Given the description of an element on the screen output the (x, y) to click on. 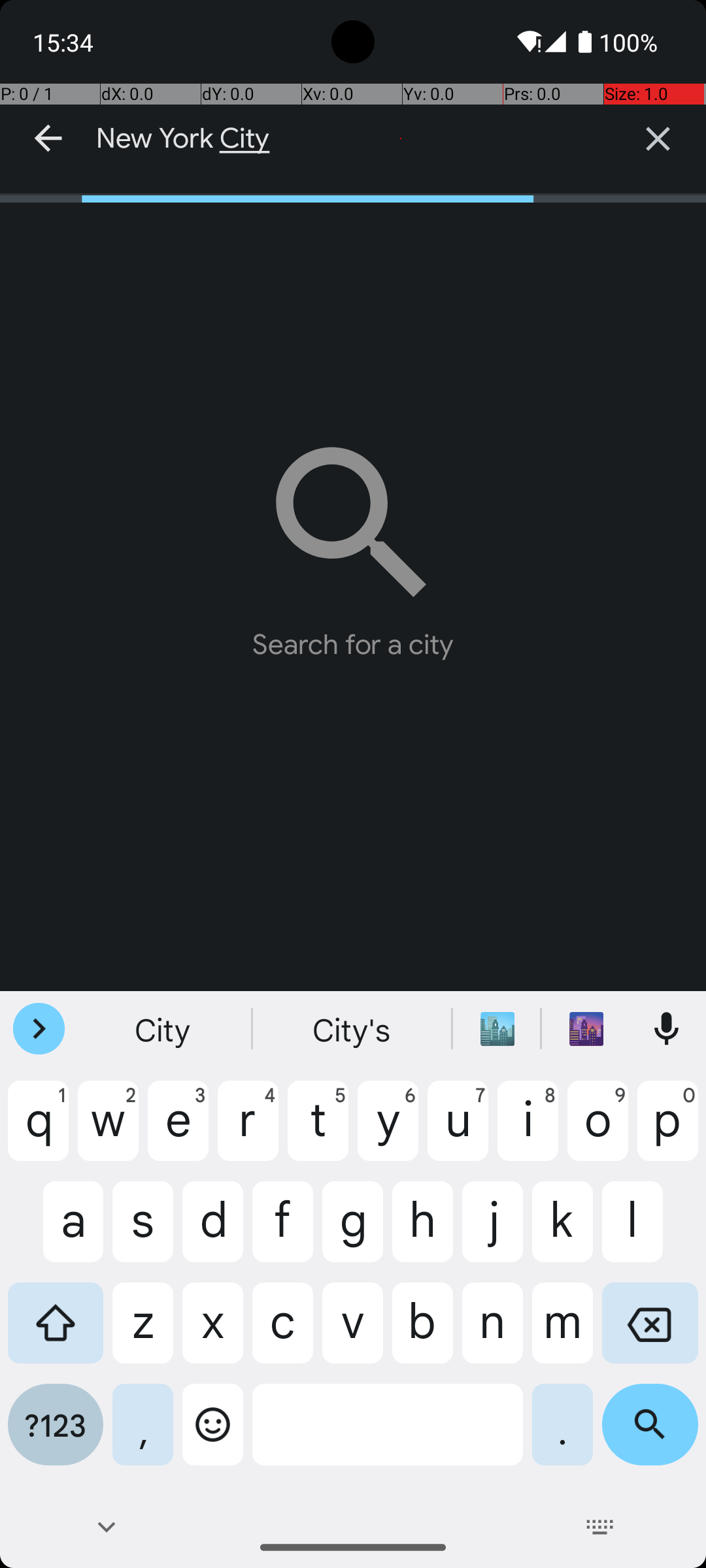
New York City Element type: android.widget.EditText (352, 138)
Clear text Element type: android.widget.ImageButton (657, 138)
Search for a city Element type: android.widget.TextView (353, 541)
City Element type: android.widget.FrameLayout (163, 1028)
City's Element type: android.widget.FrameLayout (352, 1028)
emoji 🏙️ Element type: android.widget.FrameLayout (497, 1028)
emoji 🌆 Element type: android.widget.FrameLayout (585, 1028)
